Given the description of an element on the screen output the (x, y) to click on. 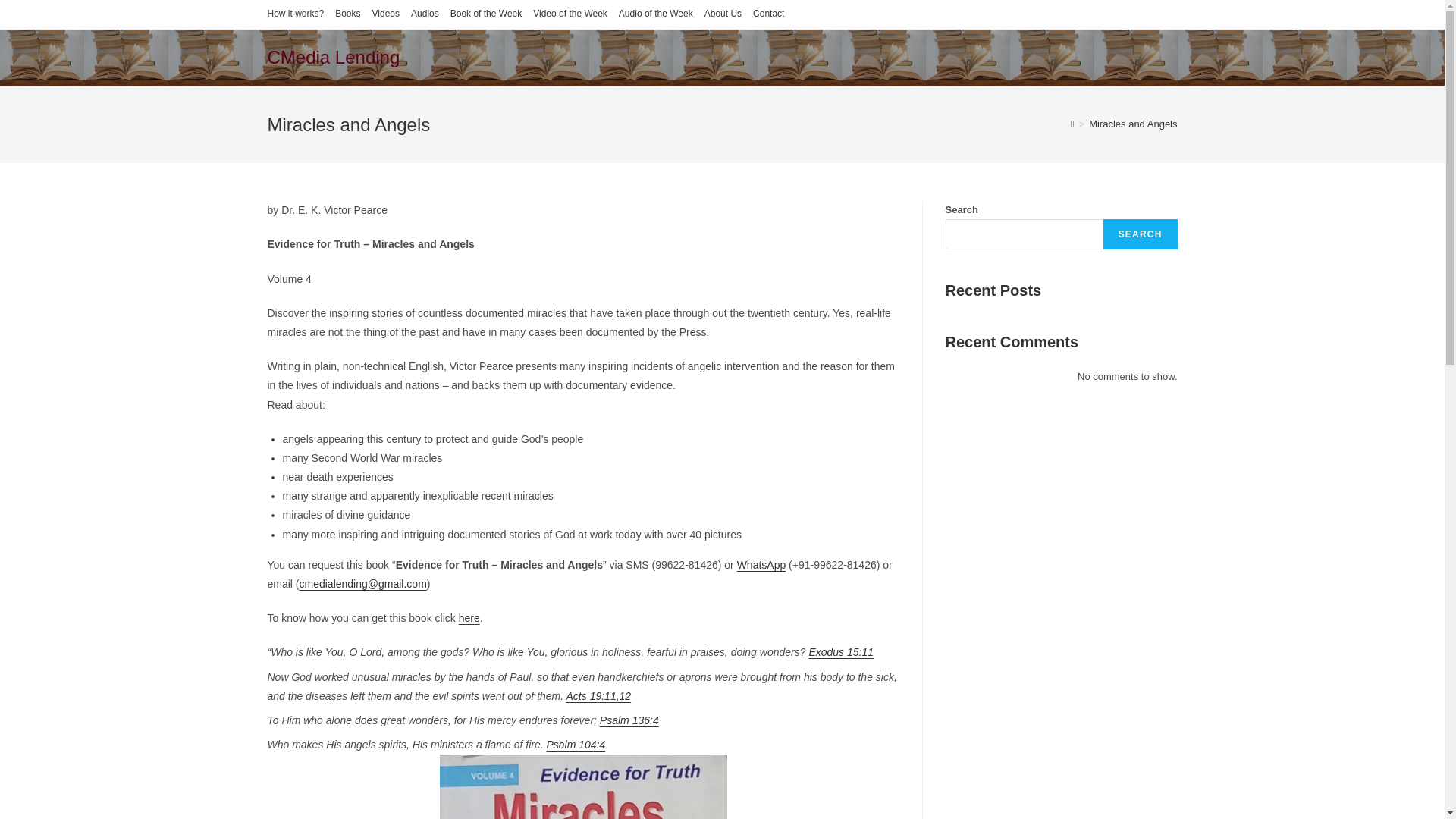
Books (346, 13)
Audios (424, 13)
Contact (768, 13)
About Us (722, 13)
Psalm 104:4 (575, 744)
SEARCH (1140, 234)
Video of the Week (569, 13)
Book of the Week (485, 13)
WhatsApp (761, 564)
Acts 19:11,12 (598, 695)
